Given the description of an element on the screen output the (x, y) to click on. 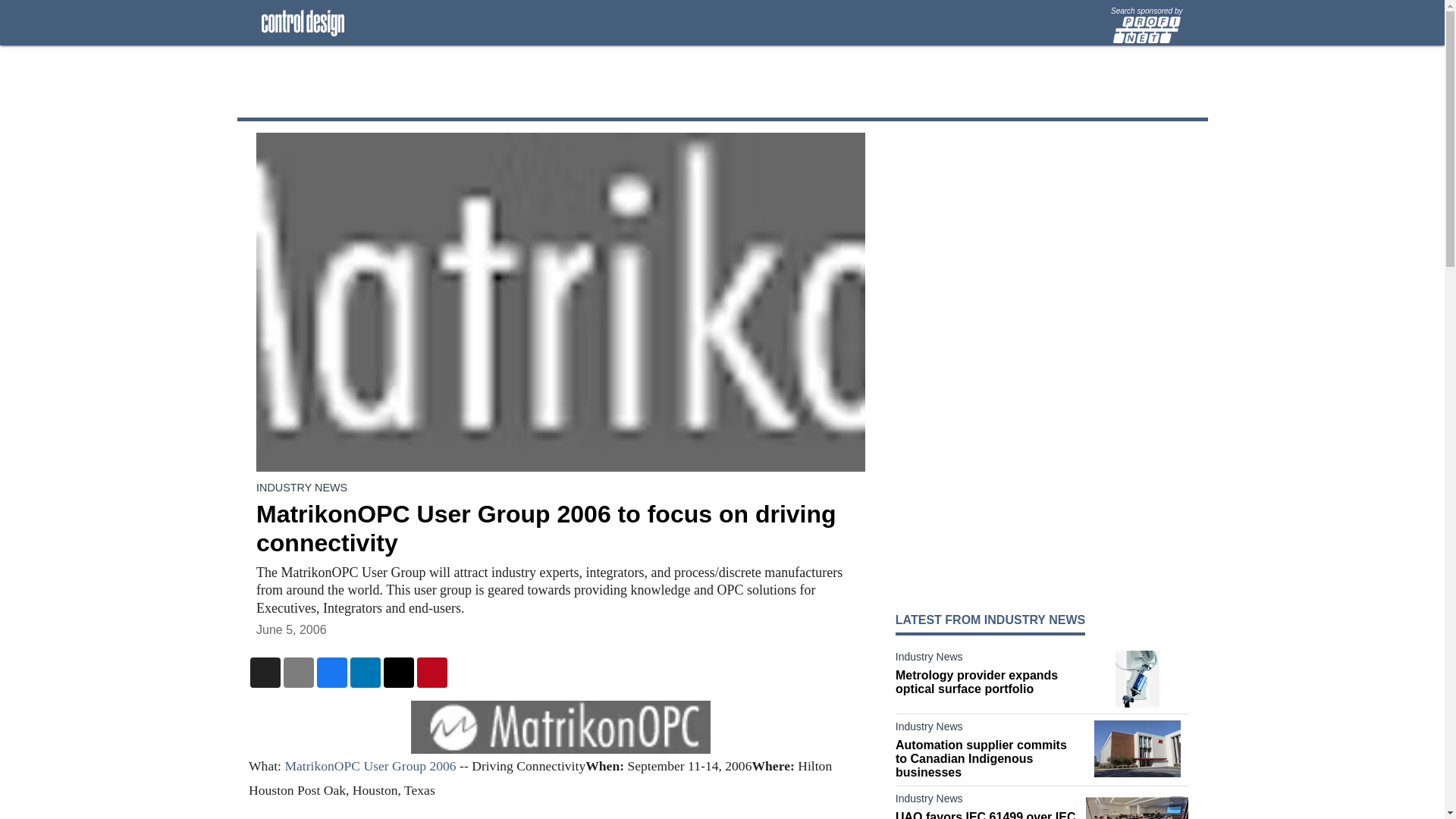
MatrikonOPC User Group 2006 (369, 765)
Industry News (986, 659)
Industry News (986, 729)
Industry News (986, 801)
UAO favors IEC 61499 over IEC 61131 (986, 814)
Metrology provider expands optical surface portfolio (986, 682)
INDUSTRY NEWS (301, 487)
